Given the description of an element on the screen output the (x, y) to click on. 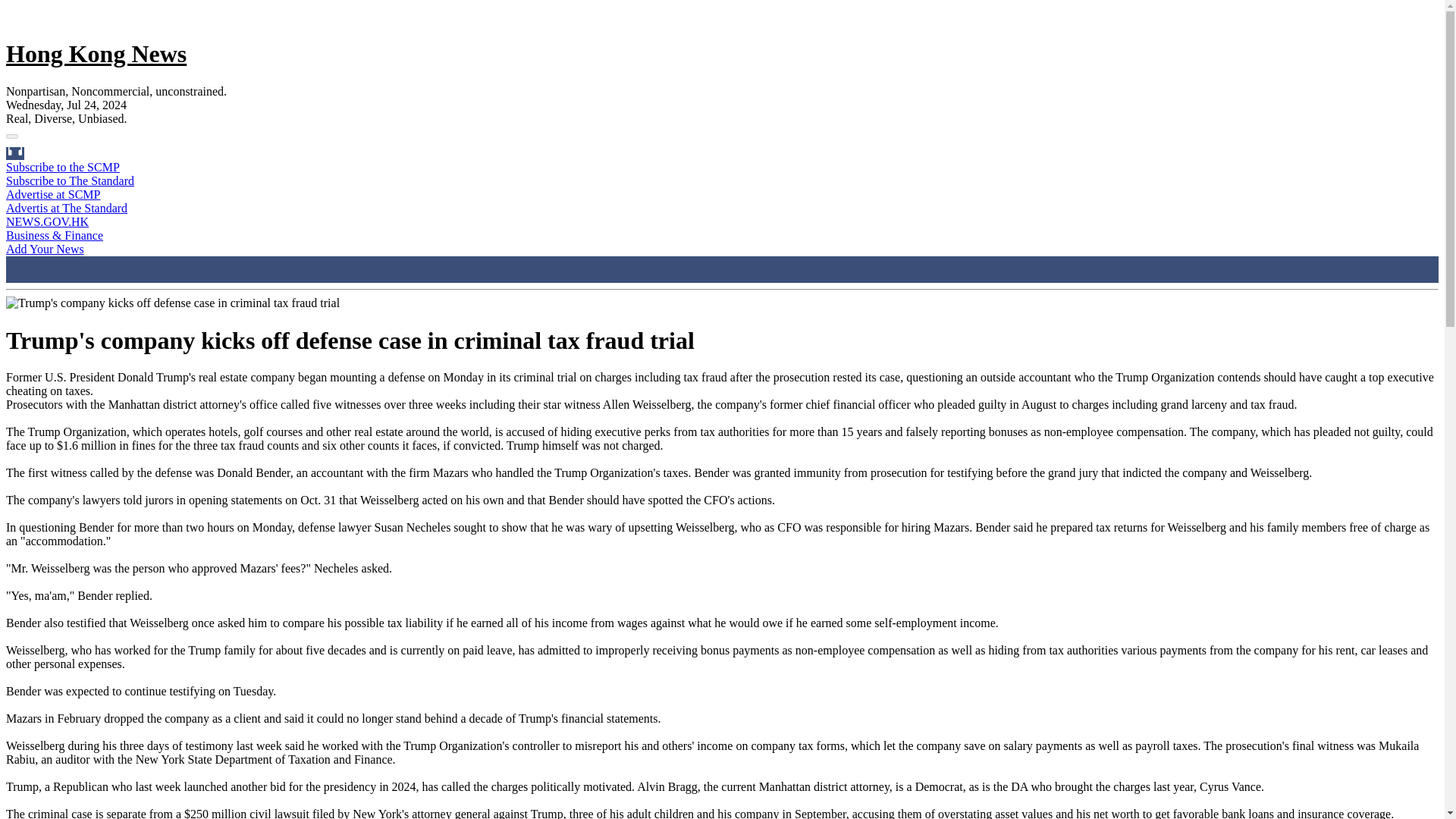
Advertise at SCMP (52, 194)
Add Your News (44, 248)
NEWS.GOV.HK (46, 221)
Advertis at The Standard (66, 207)
Hong Kong News (95, 53)
Subscribe to the SCMP (62, 166)
Subscribe to The Standard (69, 180)
